Given the description of an element on the screen output the (x, y) to click on. 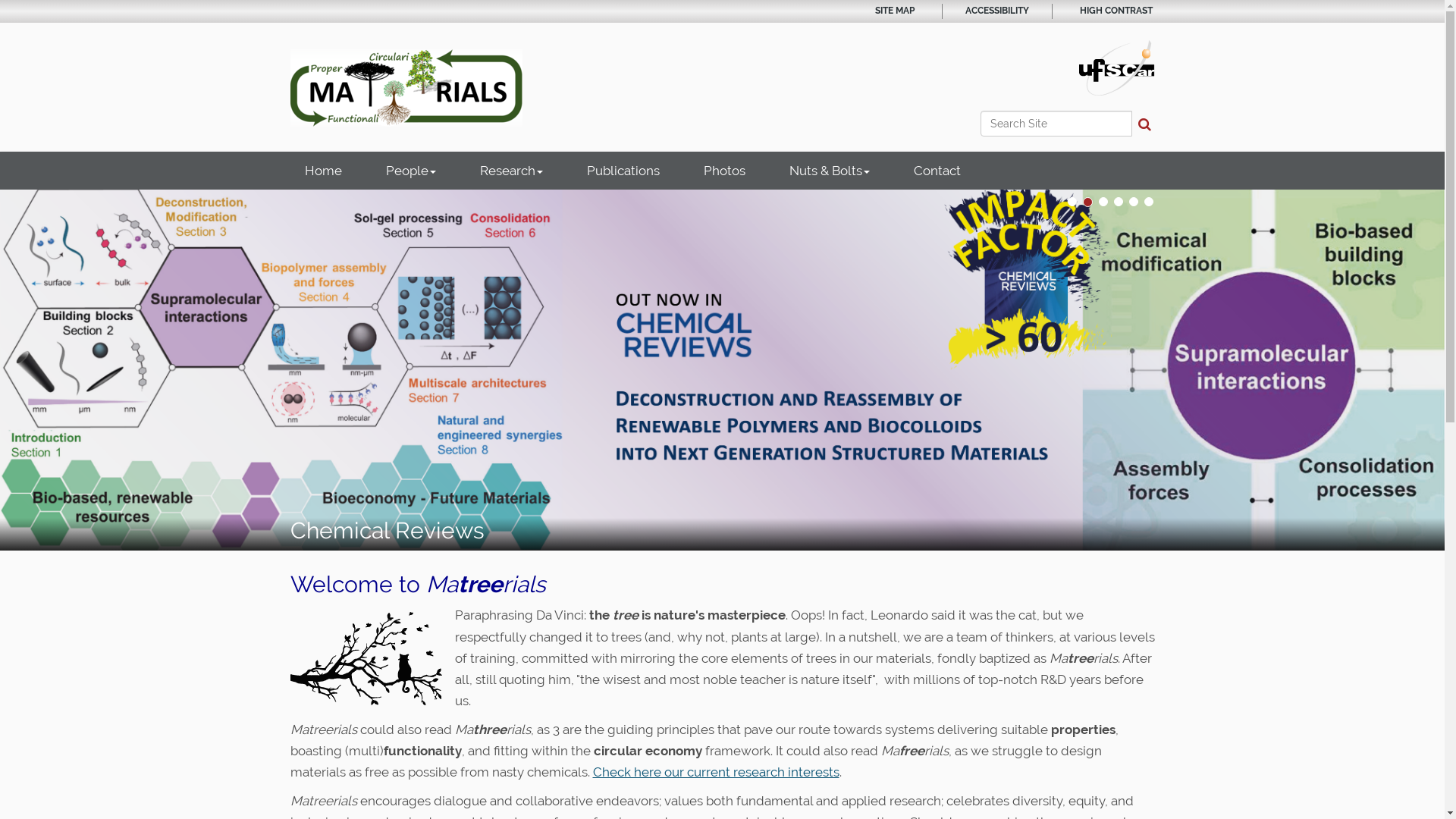
Check here our current research interests Element type: text (716, 771)
People Element type: text (411, 170)
Portal UFSCar Element type: hover (1116, 66)
Nuts & Bolts Element type: text (829, 170)
ACCESSIBILITY Element type: text (996, 10)
Publications Element type: text (622, 170)
Home Element type: text (322, 170)
HIGH CONTRAST Element type: text (1115, 10)
English Element type: hover (405, 87)
Research Element type: text (511, 170)
SITE MAP Element type: text (894, 10)
Chemical Reviews Element type: text (722, 369)
Photos Element type: text (723, 170)
Cat test Element type: hover (365, 658)
Search Site Element type: hover (1055, 123)
Contact Element type: text (936, 170)
